Given the description of an element on the screen output the (x, y) to click on. 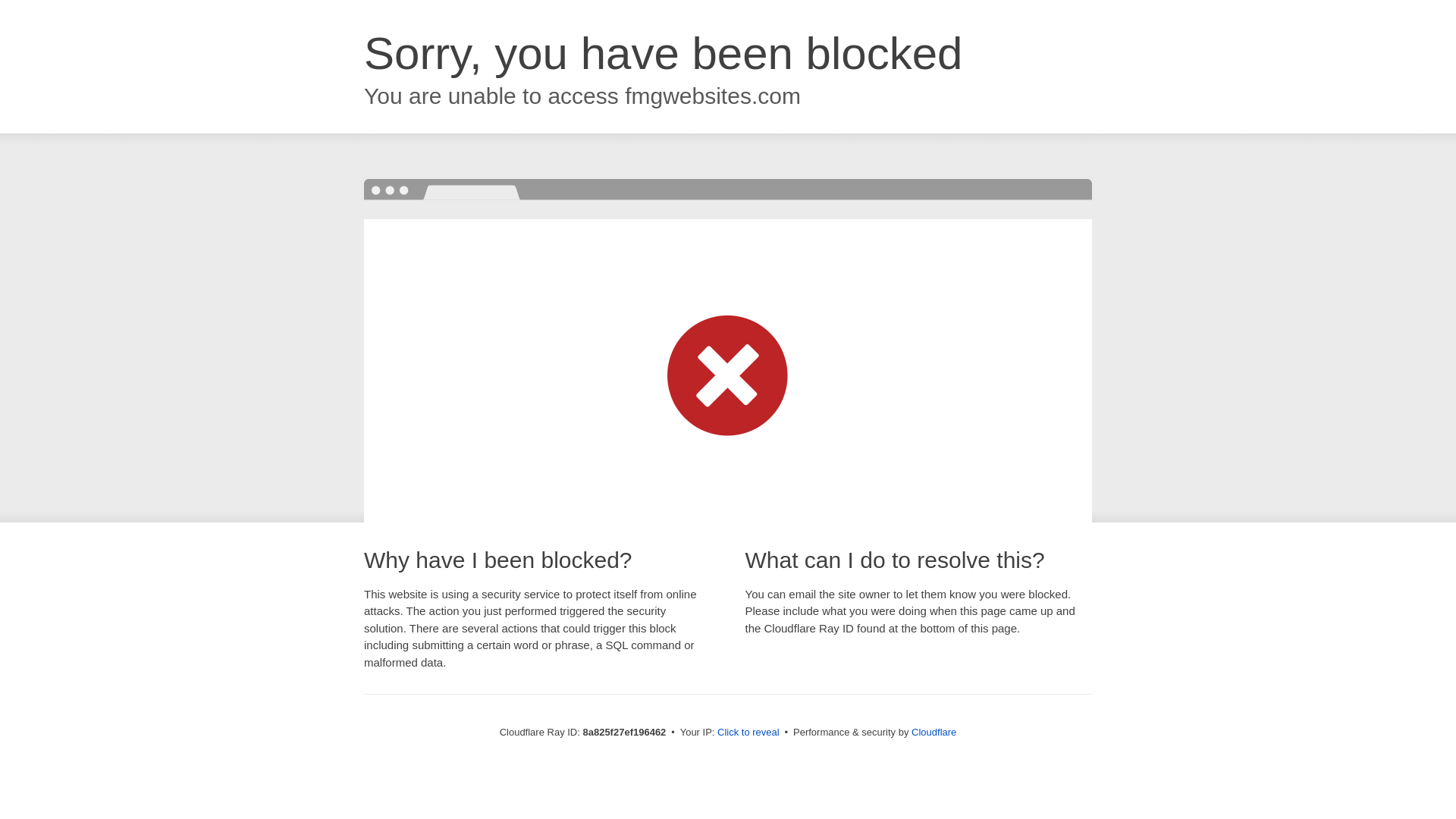
Cloudflare (933, 731)
Click to reveal (747, 732)
